Given the description of an element on the screen output the (x, y) to click on. 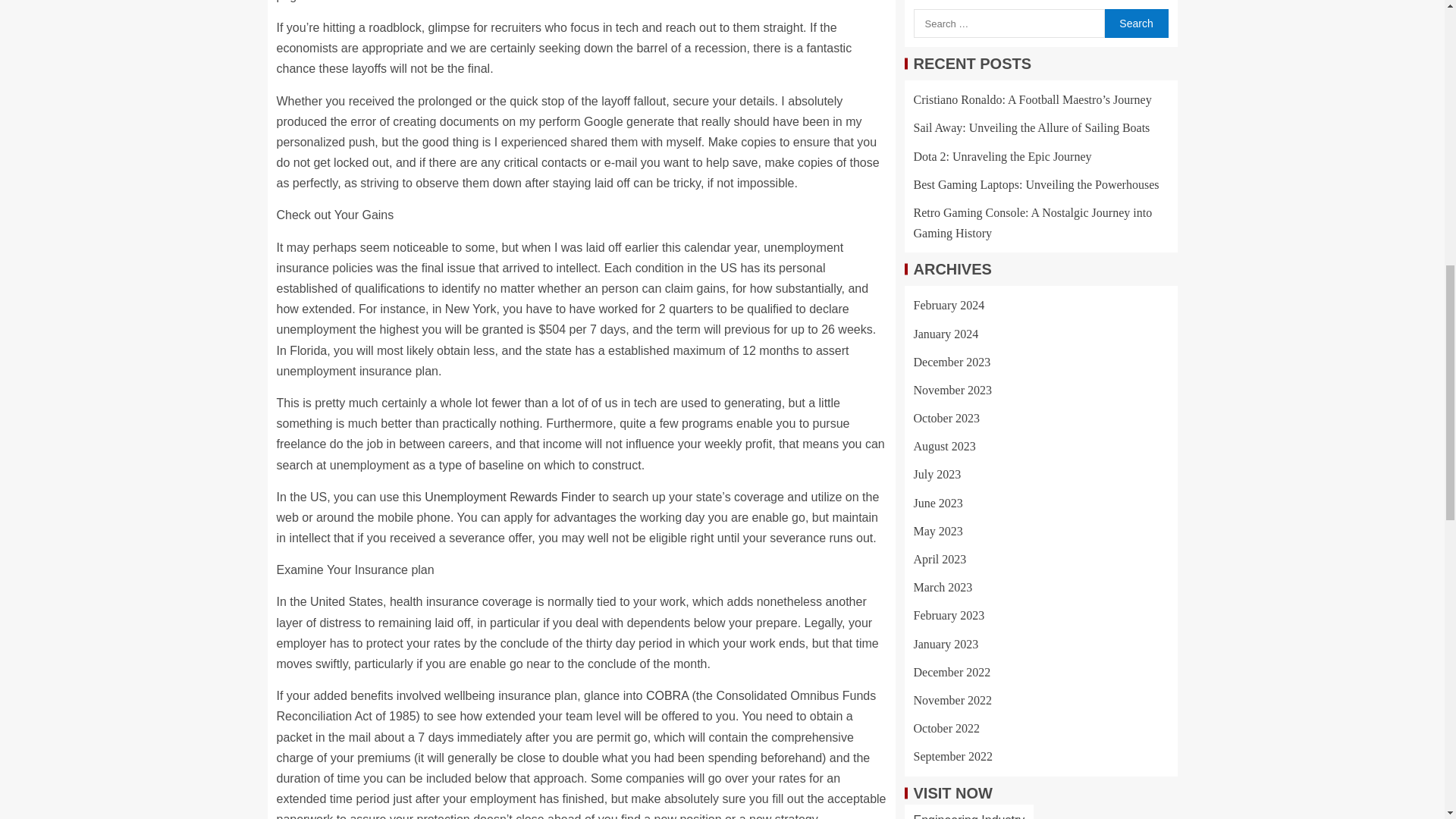
Unemployment Rewards Finder (510, 496)
COBRA (667, 695)
